Given the description of an element on the screen output the (x, y) to click on. 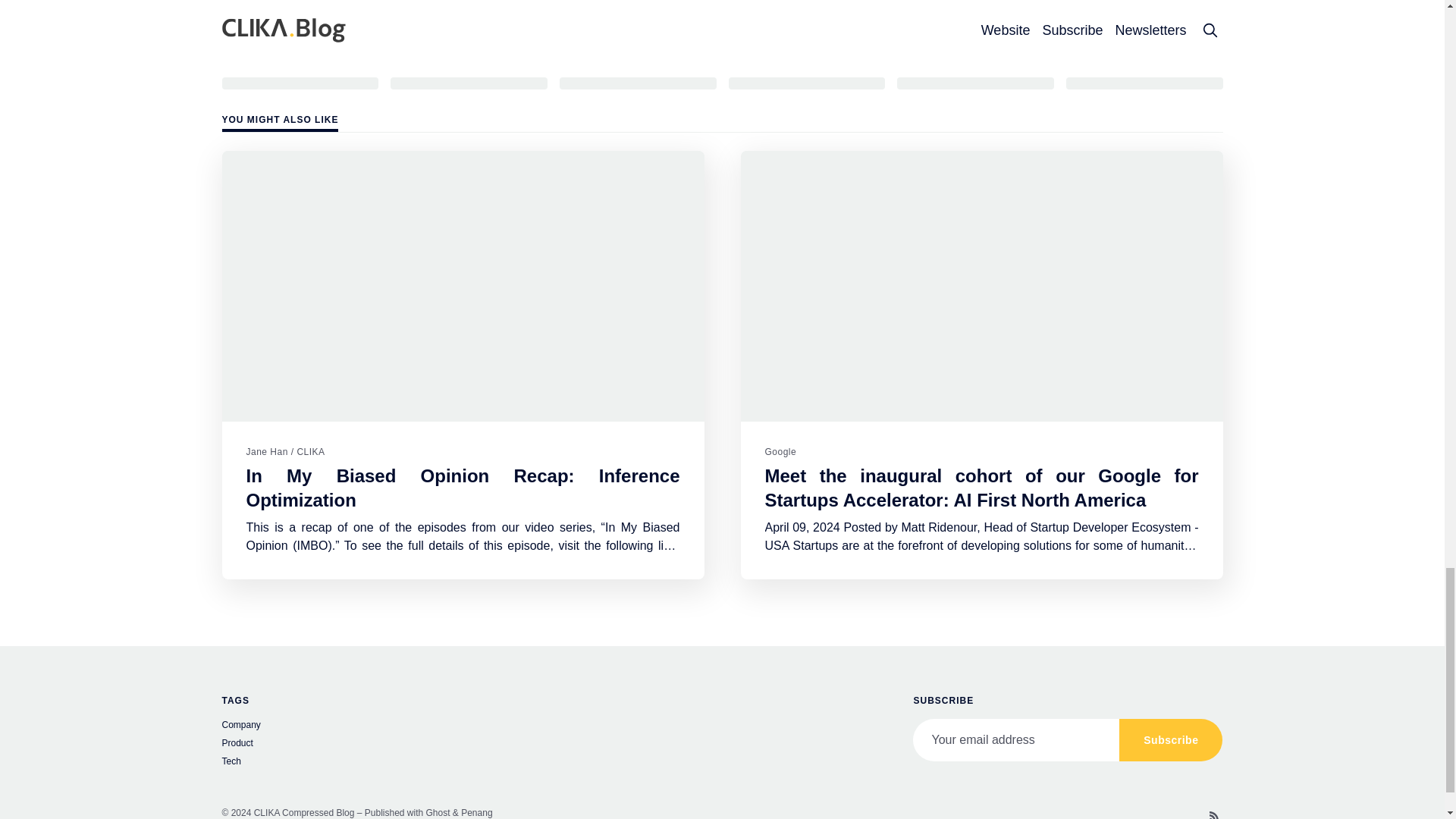
Share on LinkedIn (637, 82)
Google (780, 451)
Penang (476, 812)
Share via Email (975, 82)
Share on Facebook (468, 82)
Company (376, 726)
Share on Twitter (299, 82)
Tech (376, 762)
CLIKA (310, 451)
Company (261, 37)
Ghost (437, 812)
Jane Han (266, 451)
Copy link (1144, 82)
Product (376, 744)
